Given the description of an element on the screen output the (x, y) to click on. 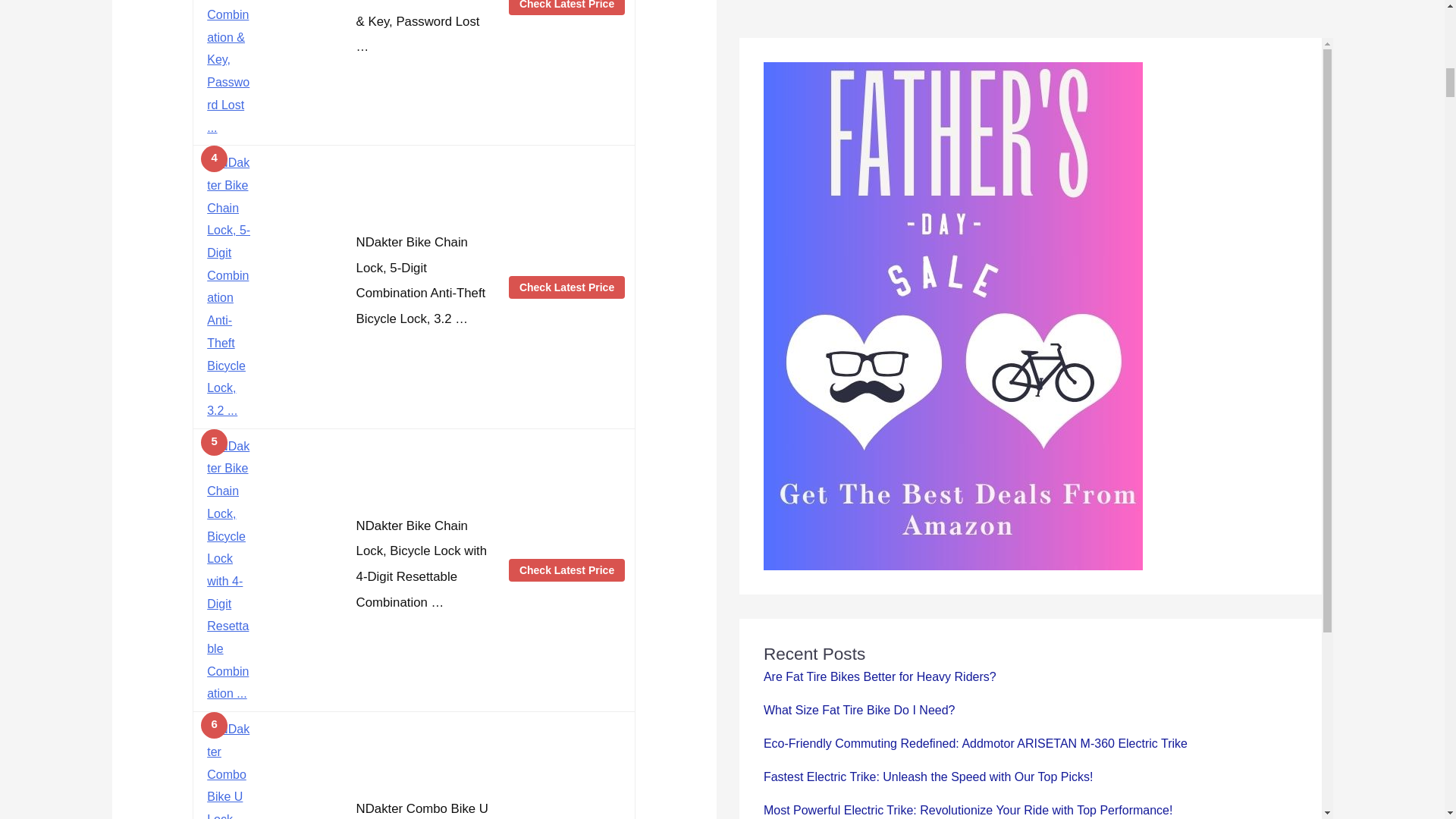
Check Latest Price (566, 287)
Check Latest Price (566, 7)
Check Latest Price (566, 569)
